Given the description of an element on the screen output the (x, y) to click on. 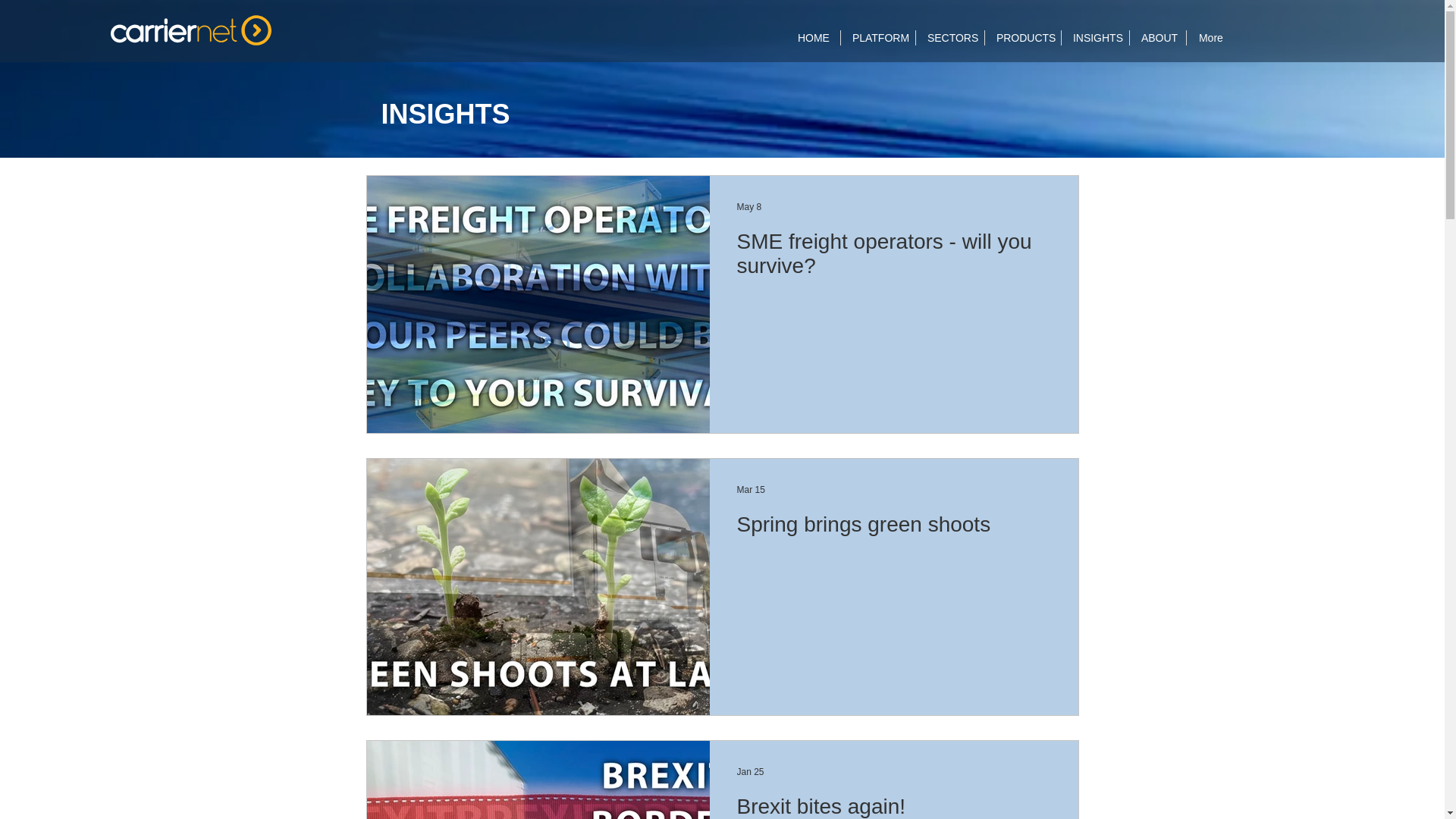
HOME (813, 37)
Mar 15 (750, 489)
SECTORS (949, 37)
INSIGHTS (1095, 37)
Spring brings green shoots (893, 528)
PRODUCTS (1023, 37)
PLATFORM (878, 37)
Brexit bites again! (893, 806)
ABOUT (1157, 37)
Jan 25 (750, 771)
SME freight operators - will you survive? (893, 258)
May 8 (748, 206)
